Given the description of an element on the screen output the (x, y) to click on. 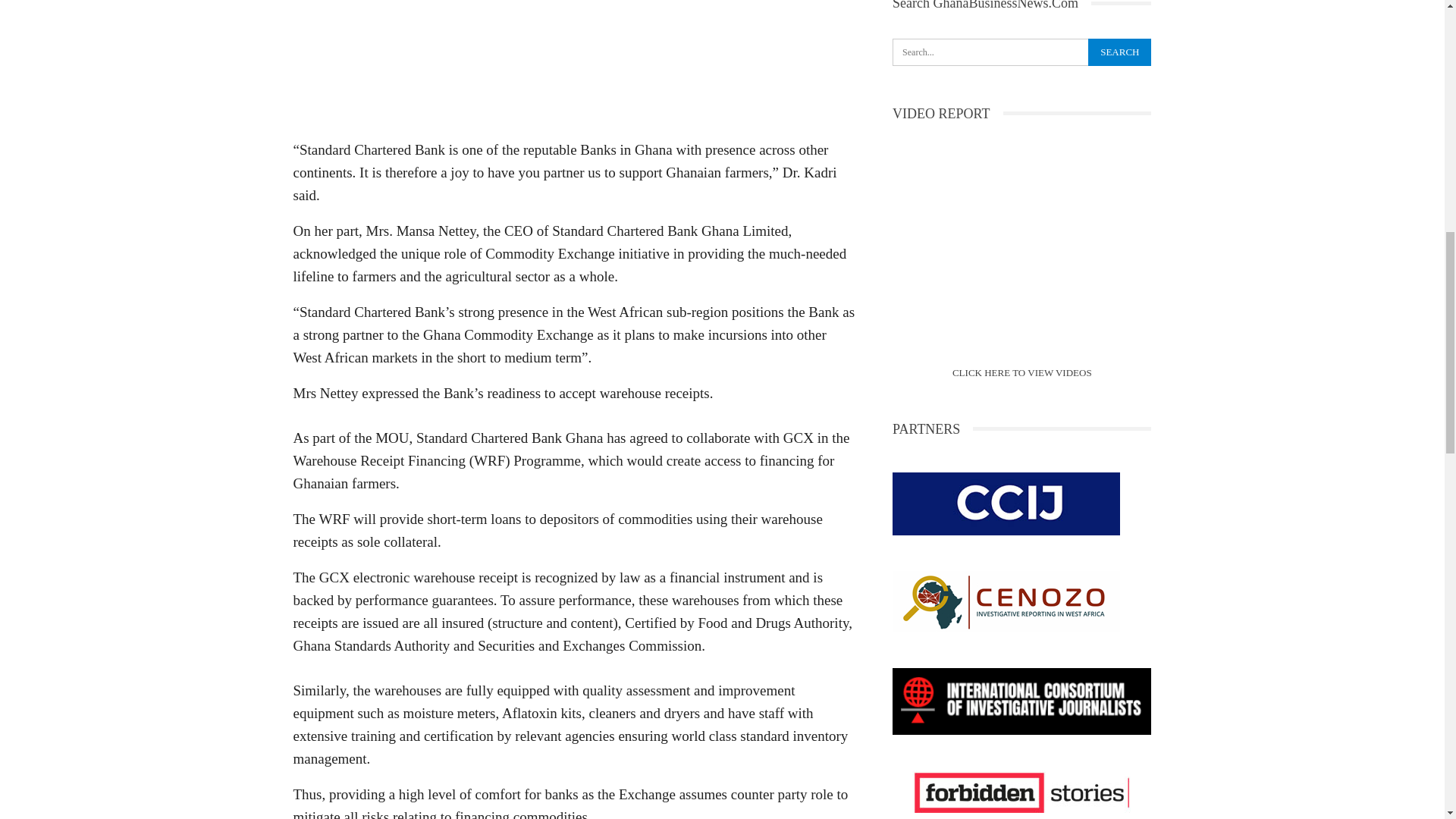
Advertisement (574, 64)
Search (1119, 52)
Search (1119, 52)
